Given the description of an element on the screen output the (x, y) to click on. 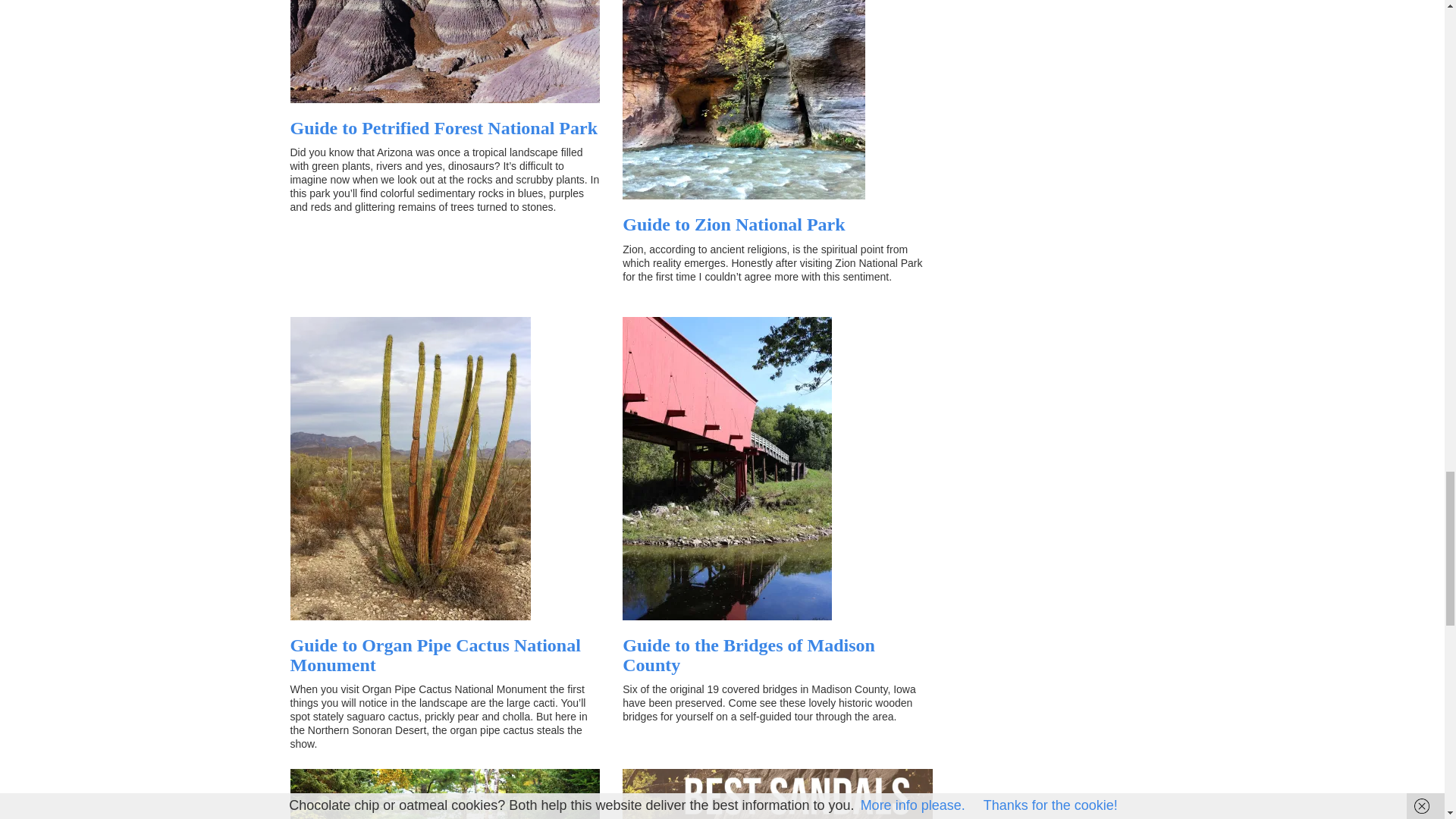
Guide to Zion National Park (733, 224)
Guide to Petrified Forest National Park (442, 127)
Guide to Zion National Park (733, 224)
Guide to Organ Pipe Cactus National Monument (434, 654)
Guide to Petrified Forest National Park (442, 127)
Guide to Organ Pipe Cactus National Monument (434, 654)
